Given the description of an element on the screen output the (x, y) to click on. 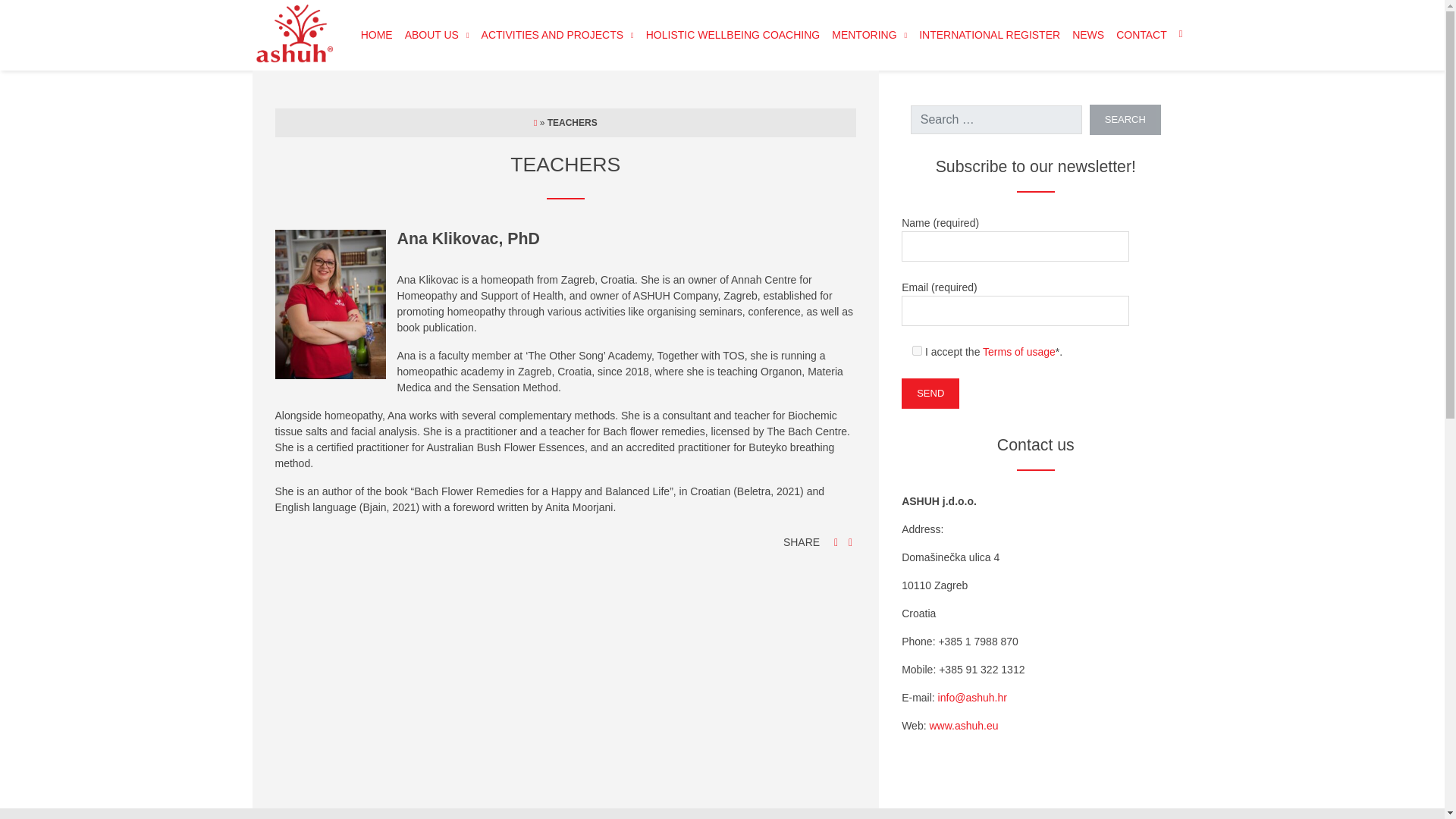
Search (1124, 119)
Send (930, 393)
CONTACT (1141, 35)
1 (916, 350)
HOLISTIC WELLBEING COACHING (732, 35)
MENTORING (868, 35)
ABOUT US (437, 35)
ACTIVITIES AND PROJECTS (558, 35)
INTERNATIONAL REGISTER (988, 35)
Search (1124, 119)
